Given the description of an element on the screen output the (x, y) to click on. 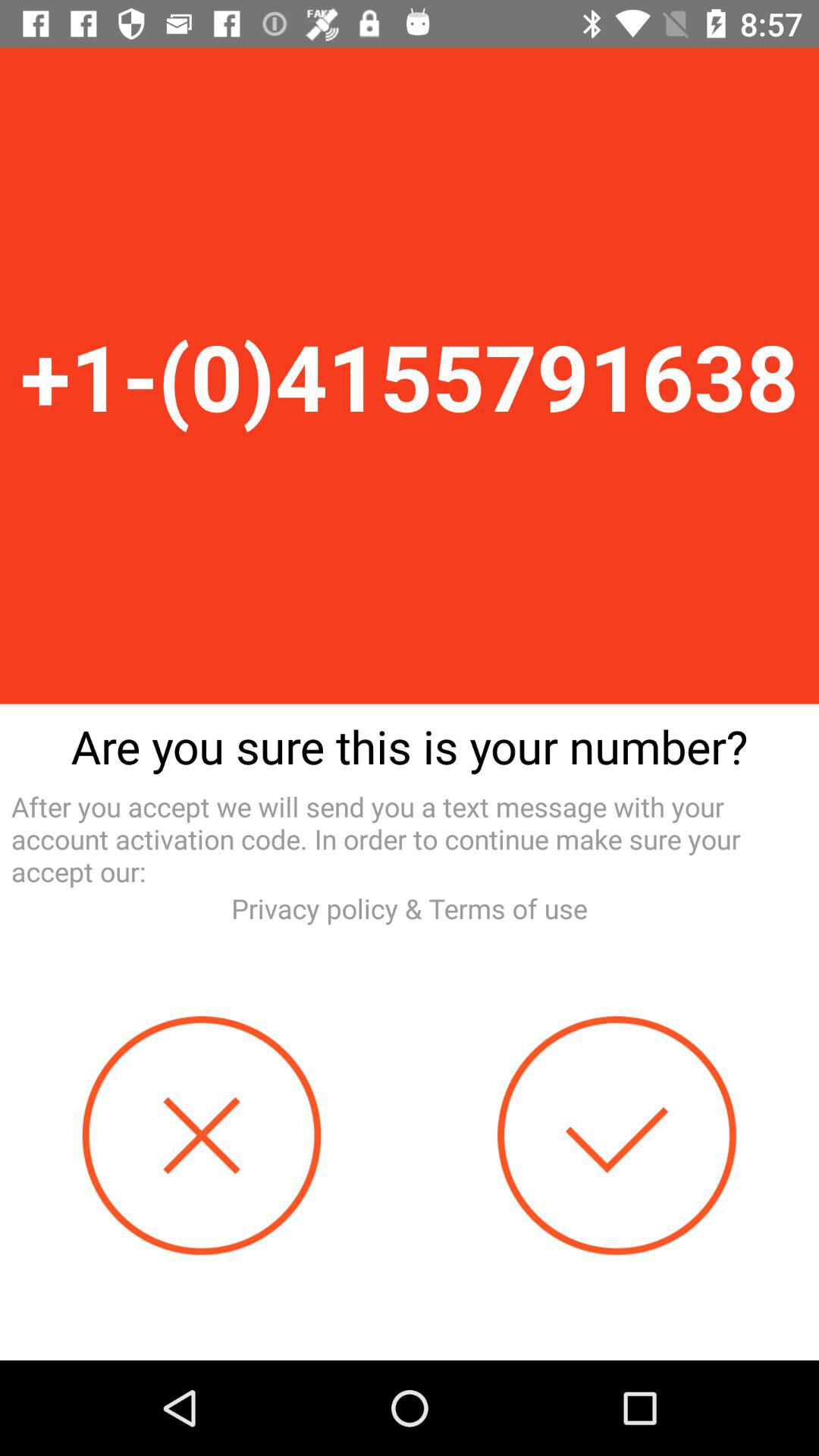
choose the icon at the bottom right corner (616, 1135)
